Given the description of an element on the screen output the (x, y) to click on. 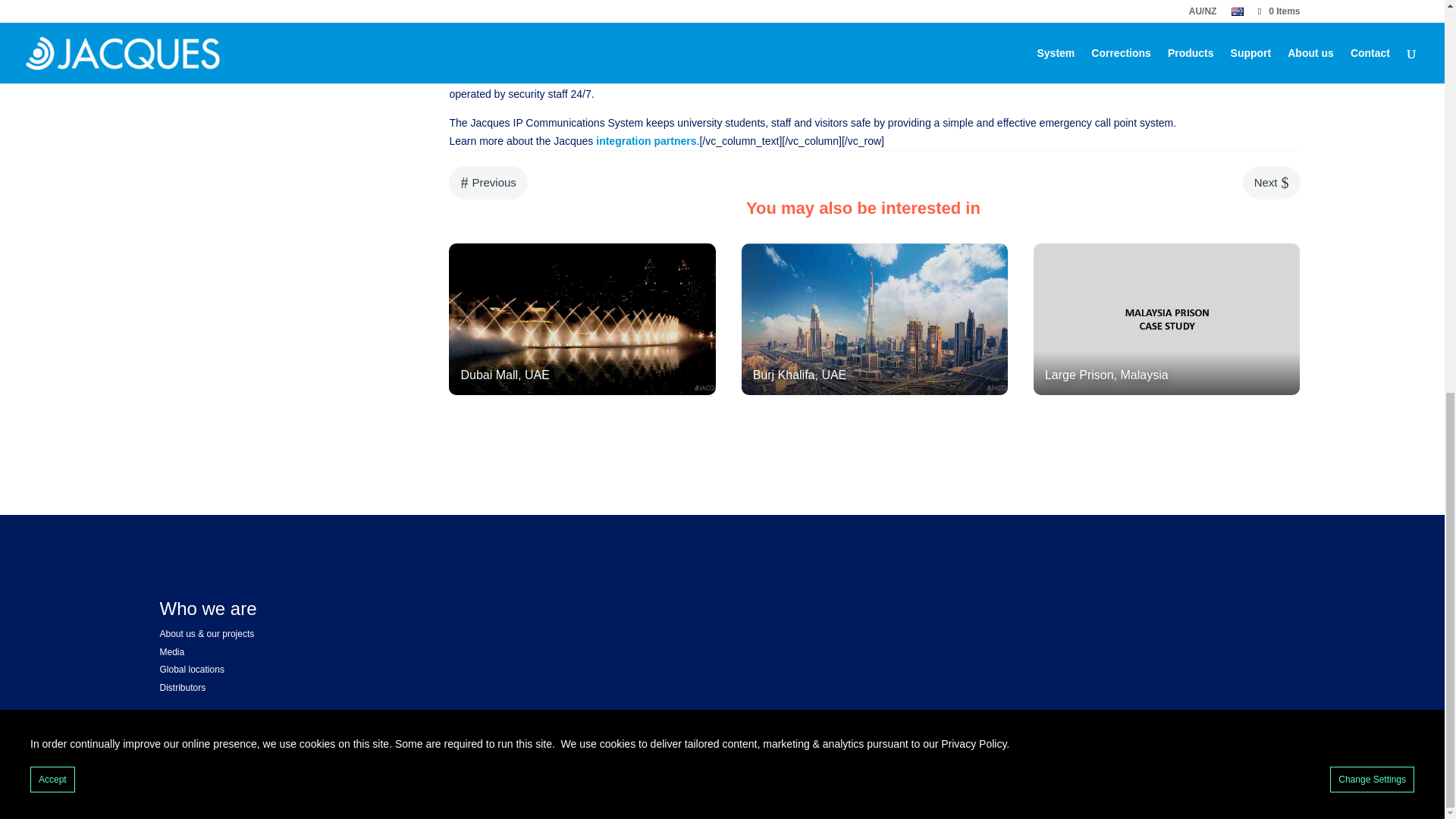
Media (171, 652)
integration partners (645, 141)
Distributors (181, 687)
Dubai Mall, UAE (582, 318)
GHDWoodhead (844, 75)
Large Prison, Malaysia (1166, 318)
Burj Khalifa, UAE (875, 318)
Dubai Mall, UAE (582, 318)
Burj Khalifa, UAE (875, 318)
Global locations (191, 669)
